Given the description of an element on the screen output the (x, y) to click on. 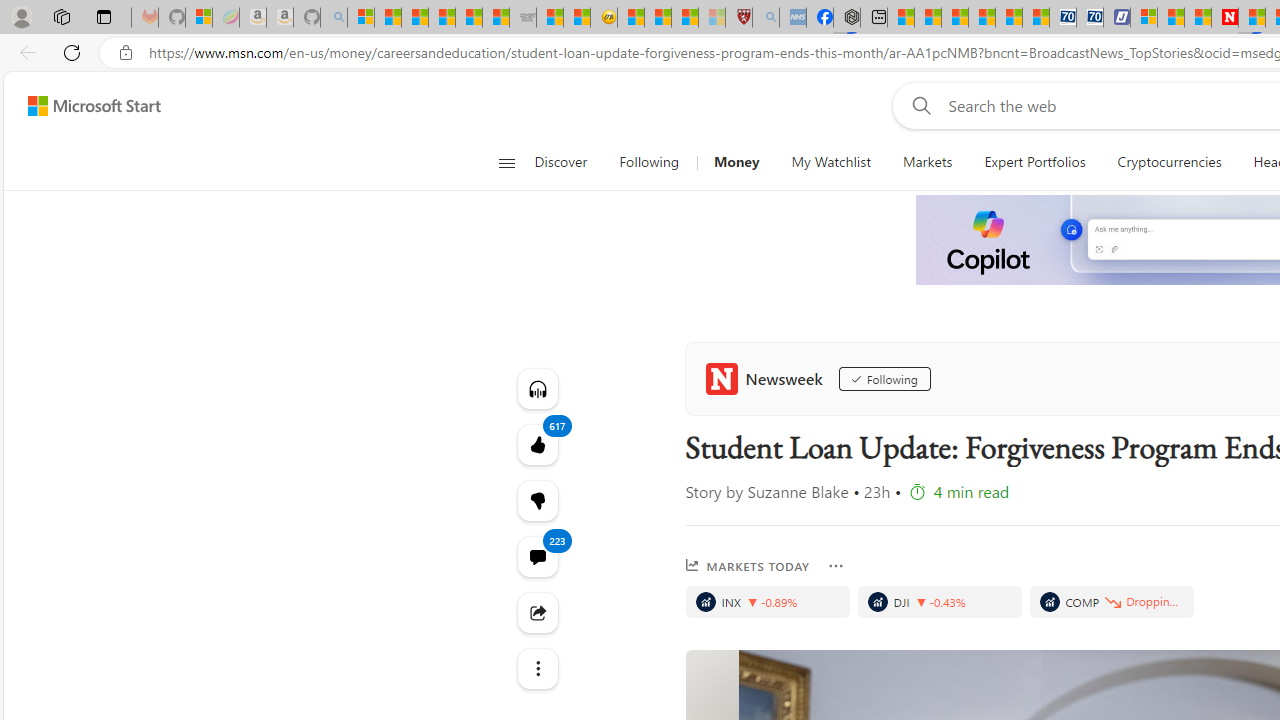
COMP, NASDAQ. Price is 17,619.35. Decreased by -1.67% (1111, 601)
Listen to this article (537, 388)
Class: at-item (537, 668)
Share this story (537, 612)
New Report Confirms 2023 Was Record Hot | Watch (468, 17)
Markets (927, 162)
